Given the description of an element on the screen output the (x, y) to click on. 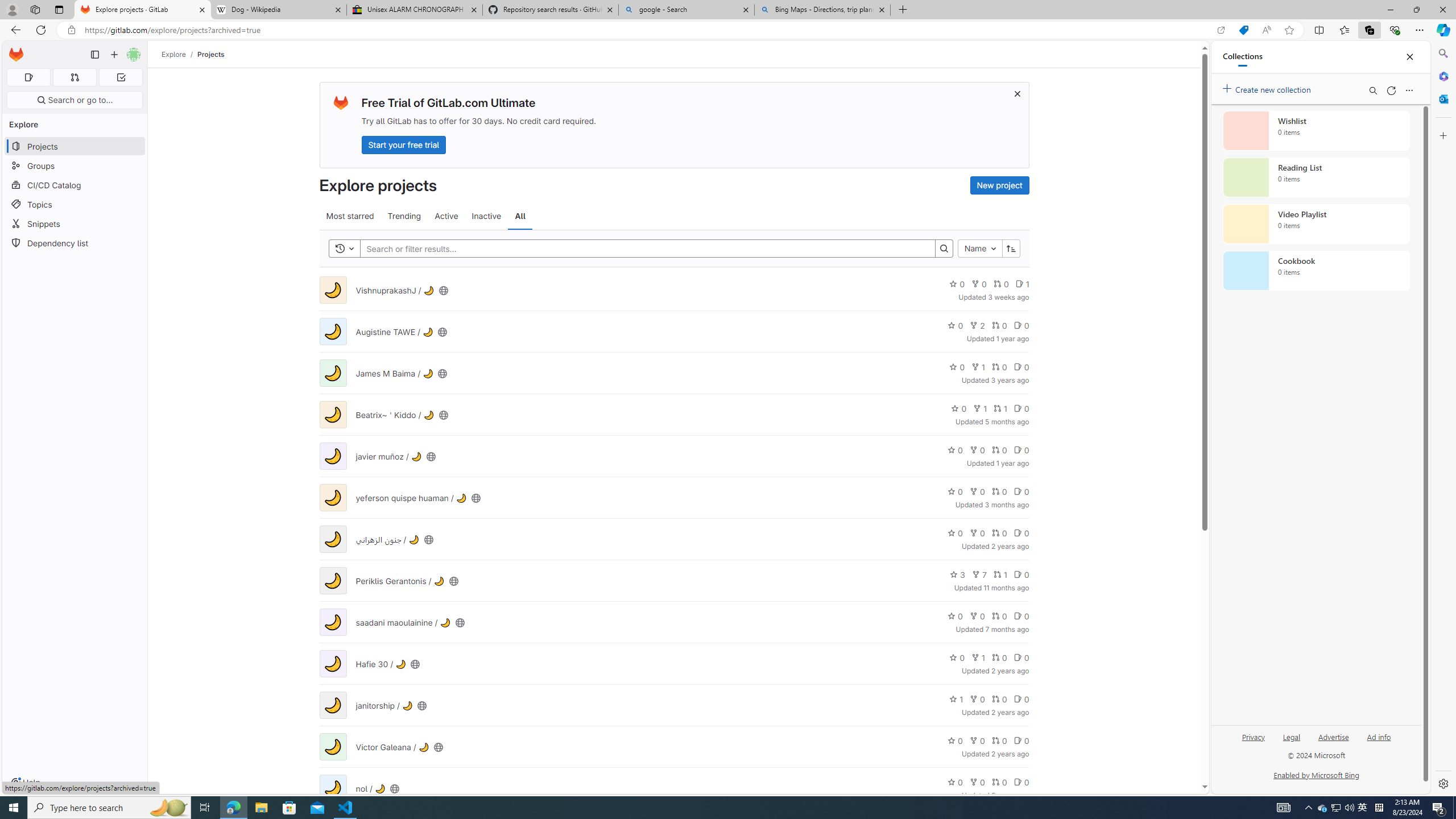
Explore (173, 53)
Snippets (74, 223)
7 (979, 574)
Trending (404, 216)
